Given the description of an element on the screen output the (x, y) to click on. 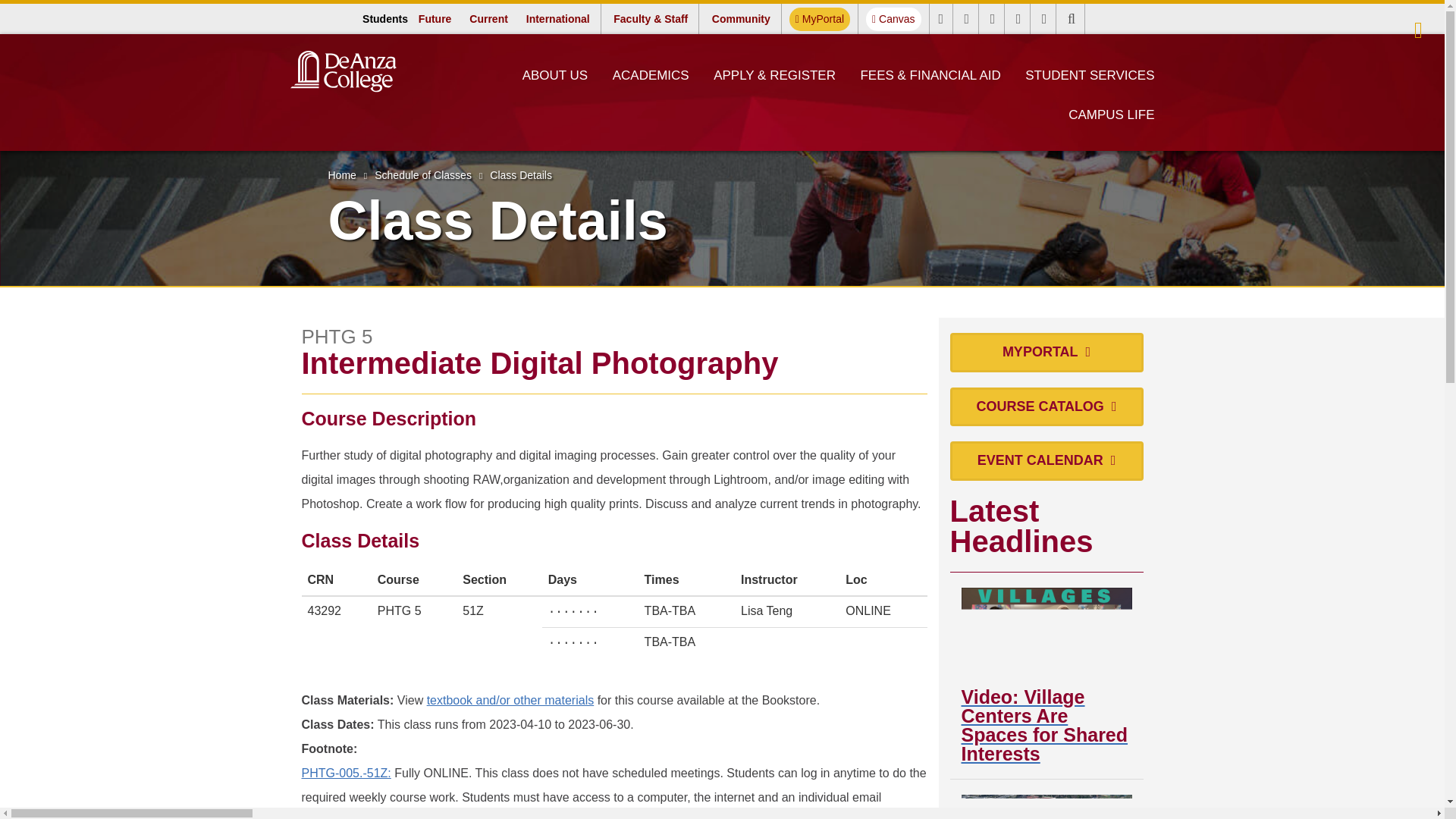
PHTG-005.-51Z: (346, 772)
STUDENT SERVICES (1089, 75)
Video: Village Centers Are Spaces for Shared Interests (1046, 675)
International (557, 18)
PHTG-005.-51Z: (346, 772)
CAMPUS LIFE (1111, 114)
ACADEMICS (651, 75)
COURSE CATALOG (1045, 406)
ABOUT US (819, 19)
Canvas (555, 75)
Schedule of Classes (893, 19)
Skip to Main Content (422, 174)
Home (1046, 806)
